Given the description of an element on the screen output the (x, y) to click on. 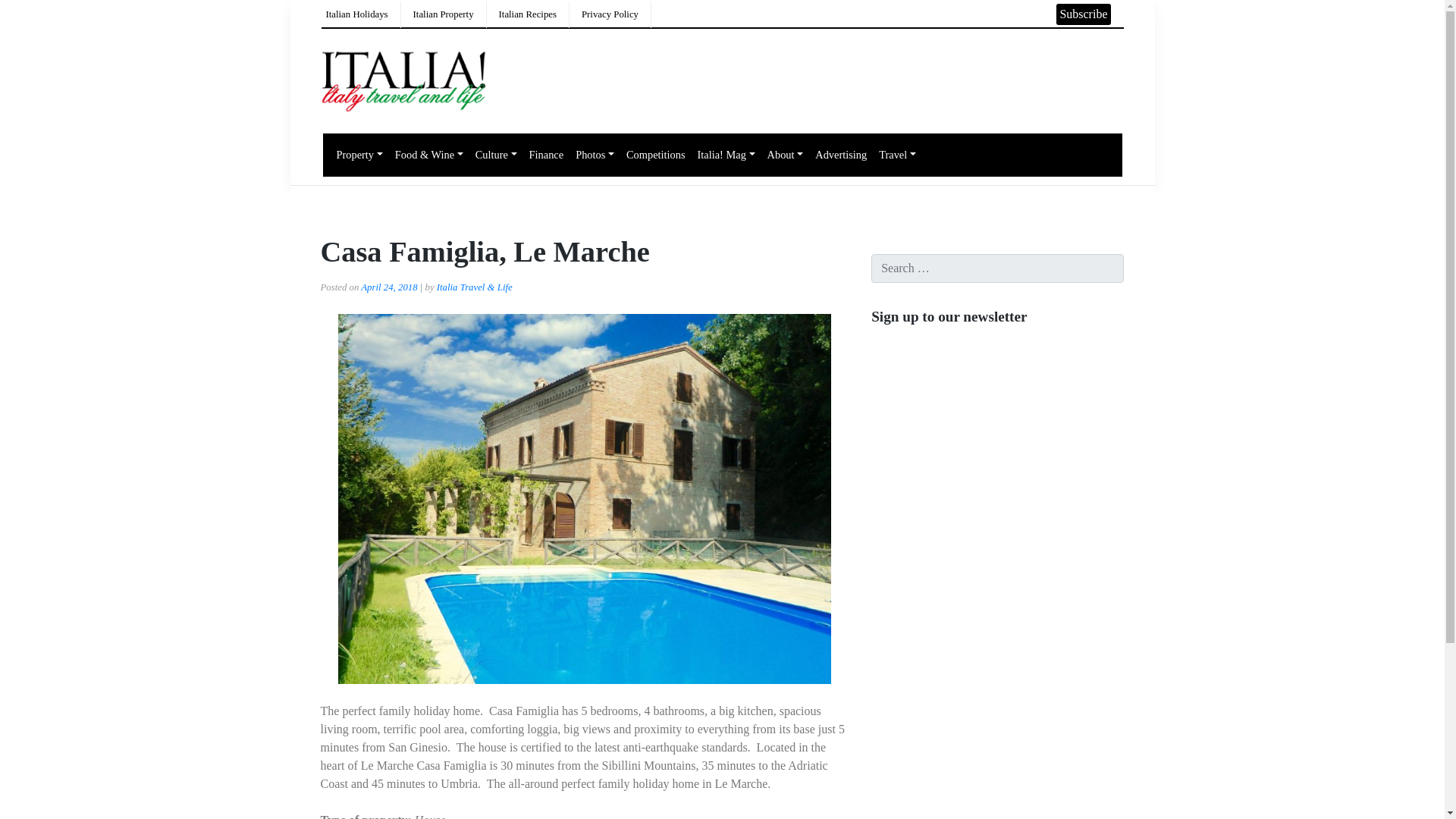
Property (359, 154)
Competitions (655, 154)
Italian Holidays (357, 14)
Privacy Policy (609, 14)
Italian Property (443, 14)
Italian Holidays (357, 14)
Italian Recipes (527, 14)
Privacy Policy (609, 14)
Italian Recipes (527, 14)
Photos (594, 154)
